Given the description of an element on the screen output the (x, y) to click on. 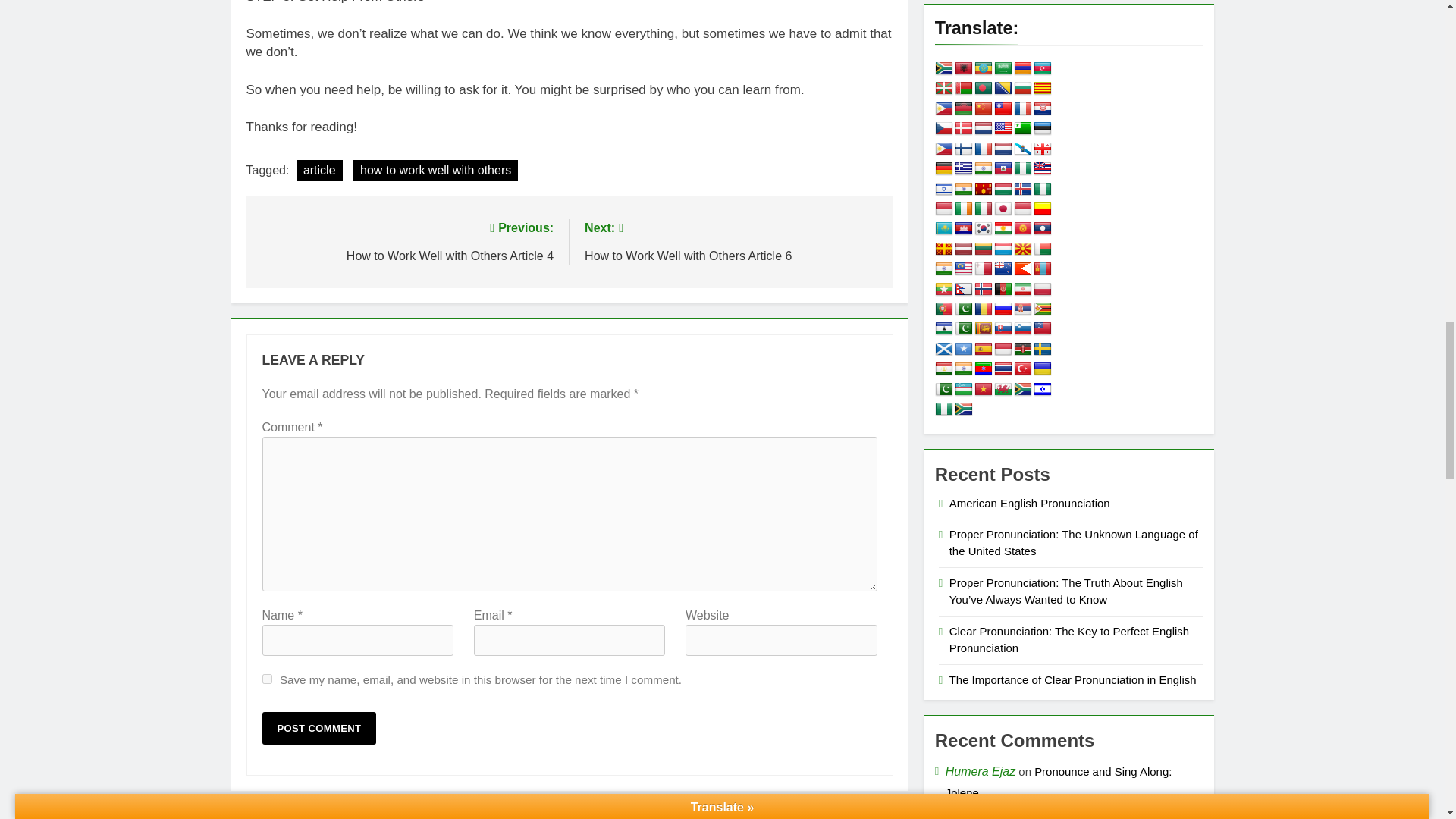
yes (267, 678)
Post Comment (319, 727)
